Given the description of an element on the screen output the (x, y) to click on. 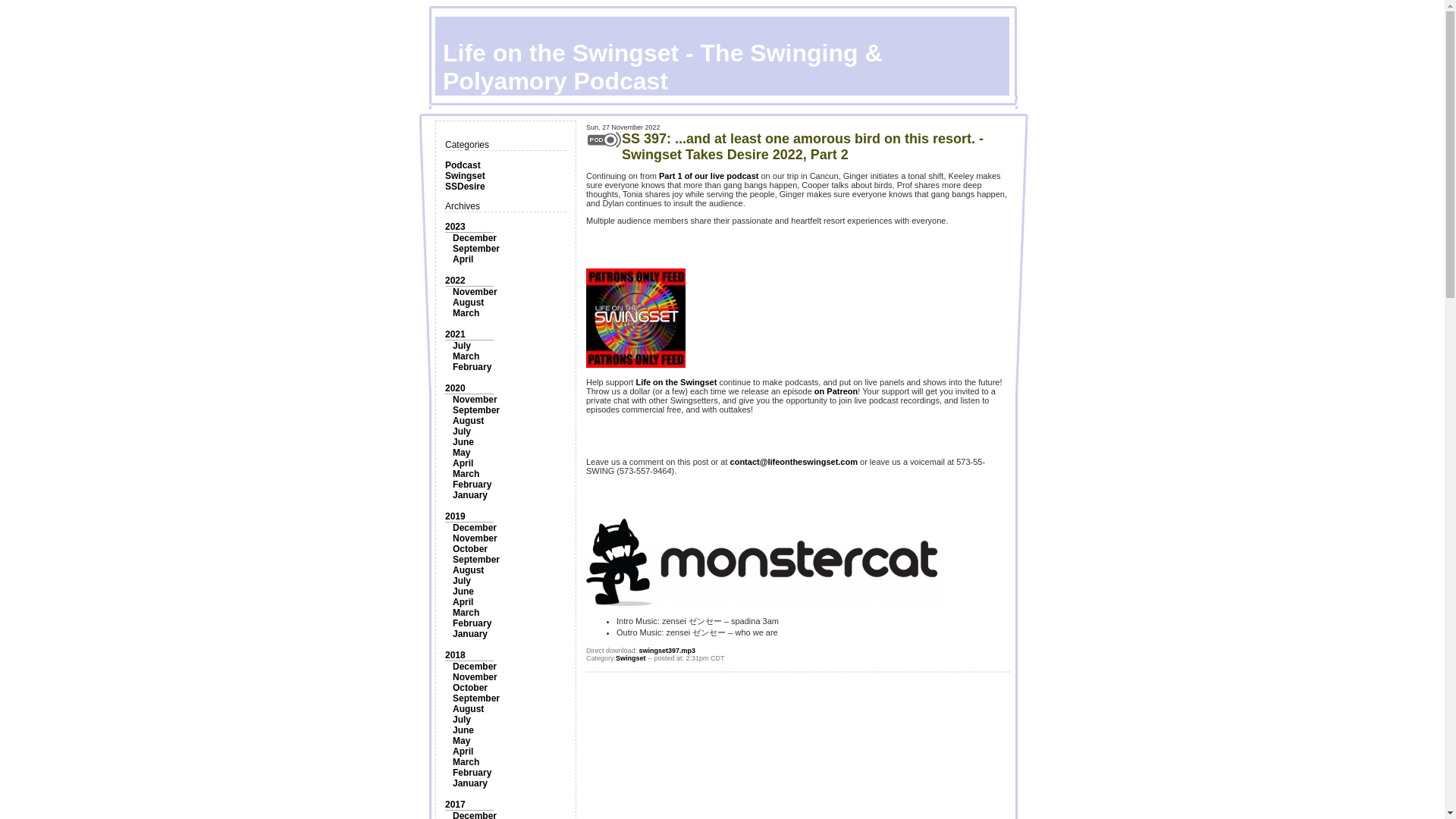
2020 (455, 388)
April (462, 602)
March (465, 356)
September (475, 248)
November (474, 291)
2021 (455, 334)
November (474, 398)
December (474, 237)
June (463, 441)
November (474, 538)
